Given the description of an element on the screen output the (x, y) to click on. 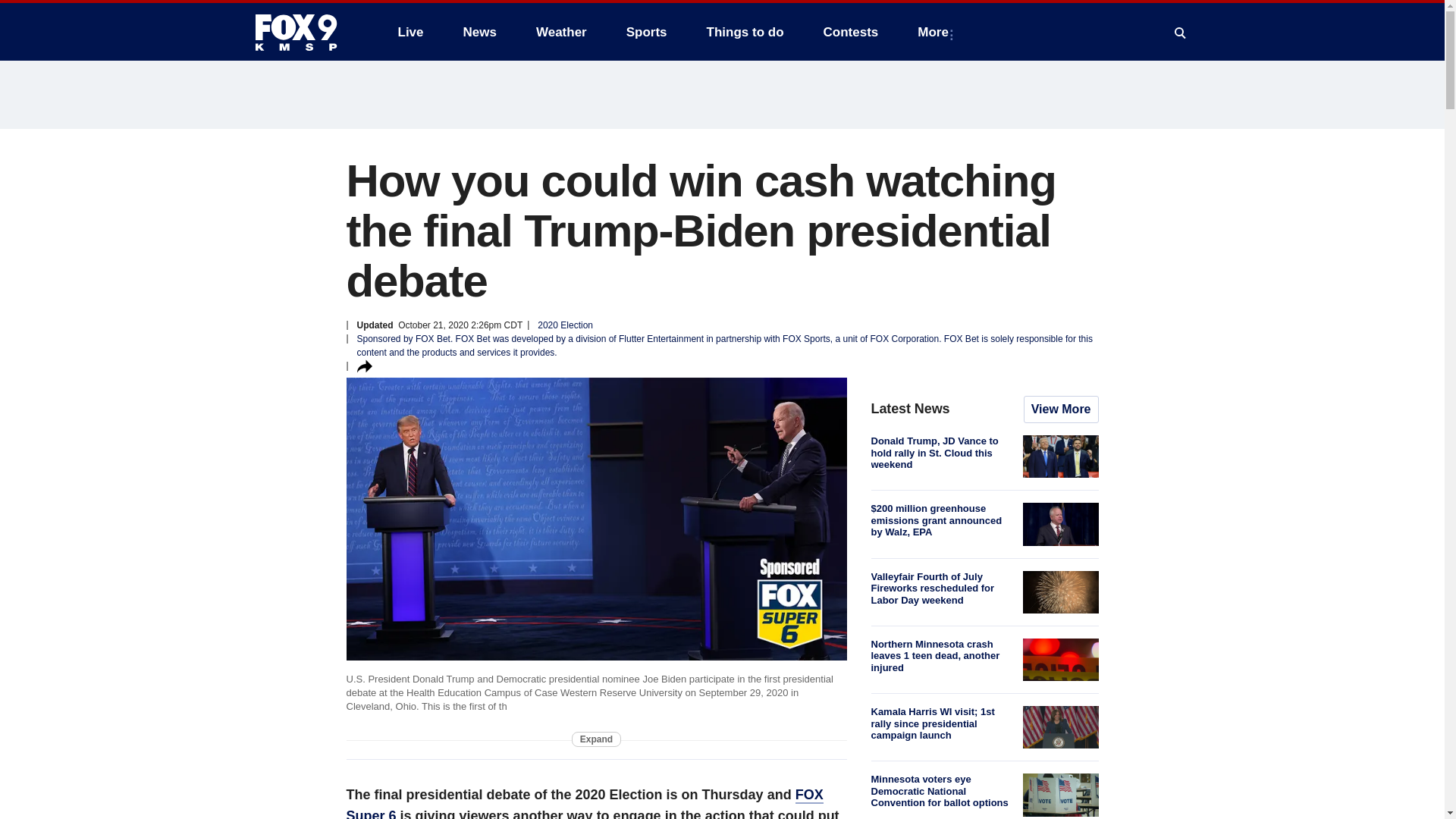
Live (410, 32)
Contests (850, 32)
Weather (561, 32)
More (935, 32)
News (479, 32)
Sports (646, 32)
Things to do (745, 32)
